Given the description of an element on the screen output the (x, y) to click on. 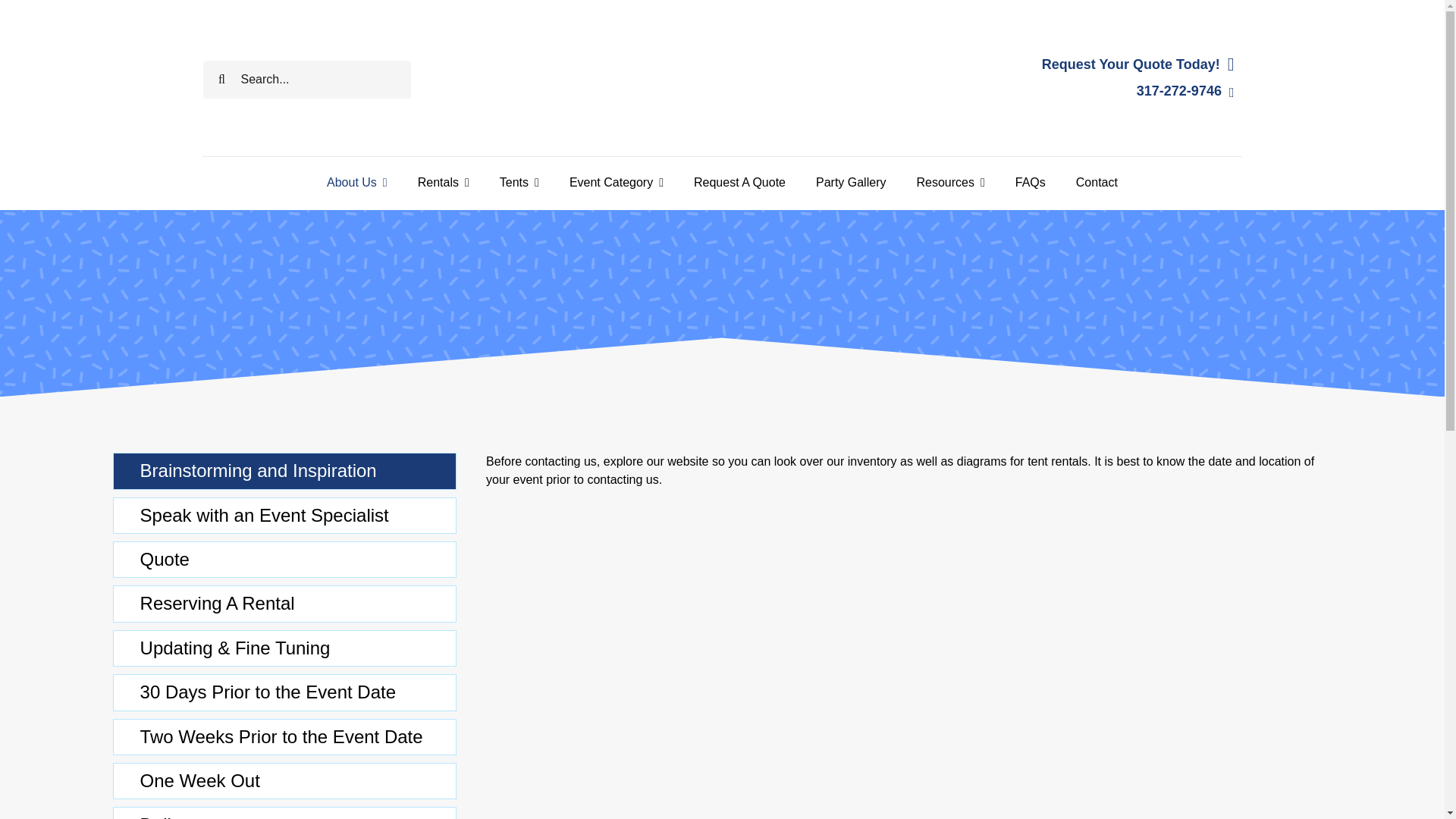
About Us (356, 182)
Rentals (442, 182)
Tents (518, 182)
